Given the description of an element on the screen output the (x, y) to click on. 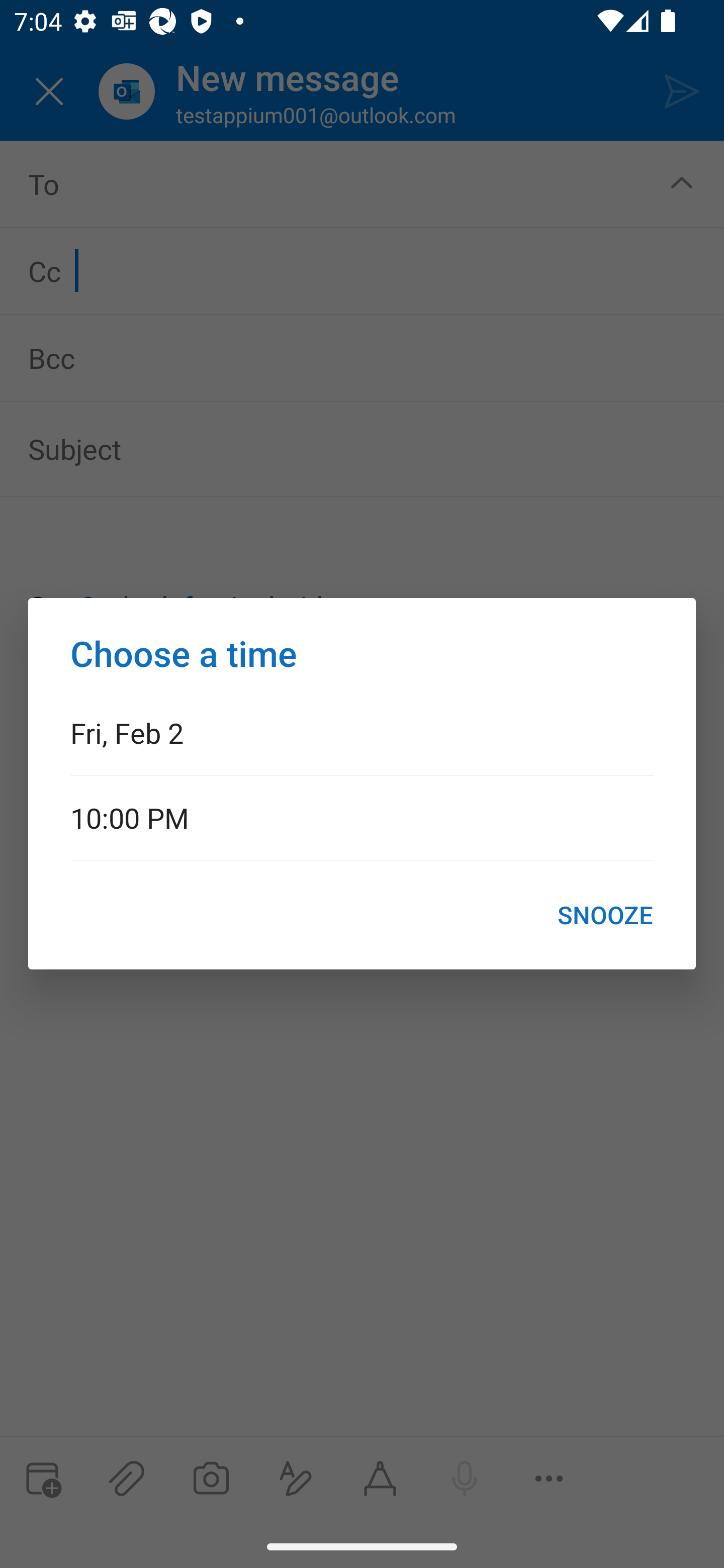
Fri, Feb 2 Choose date Fri, Feb 2 (361, 731)
10:00 PM Choose time 10:00 PM (361, 817)
SNOOZE (605, 914)
